Given the description of an element on the screen output the (x, y) to click on. 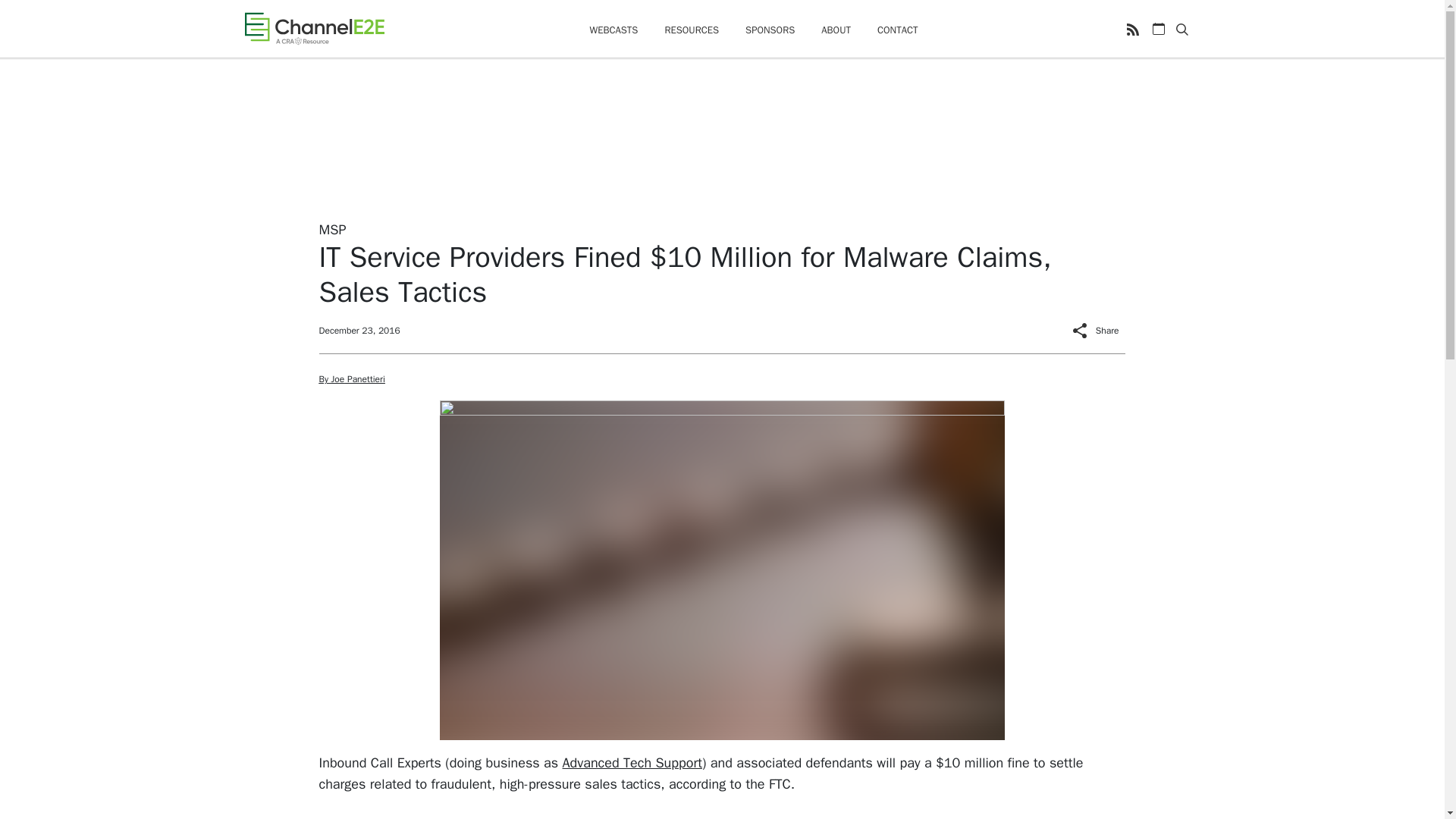
ABOUT (835, 30)
CONTACT (897, 30)
ChannelE2E (314, 27)
MSP (332, 229)
WEBCASTS (613, 30)
RESOURCES (691, 30)
View Cybersecurity Conference Calendar (1158, 28)
By Joe Panettieri (351, 378)
SPONSORS (769, 30)
Advanced Tech Support (631, 761)
